Given the description of an element on the screen output the (x, y) to click on. 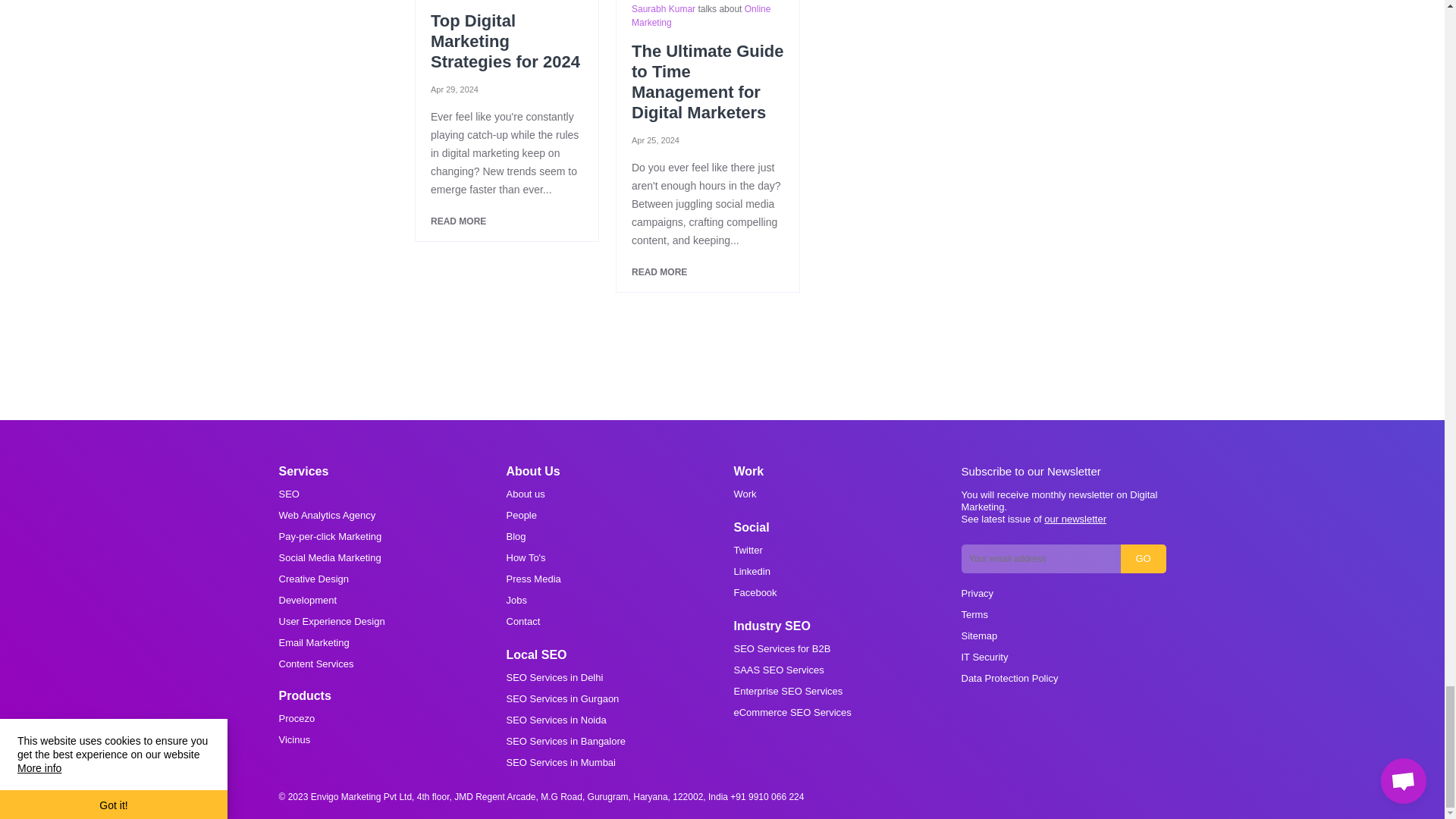
GO (1143, 558)
